Given the description of an element on the screen output the (x, y) to click on. 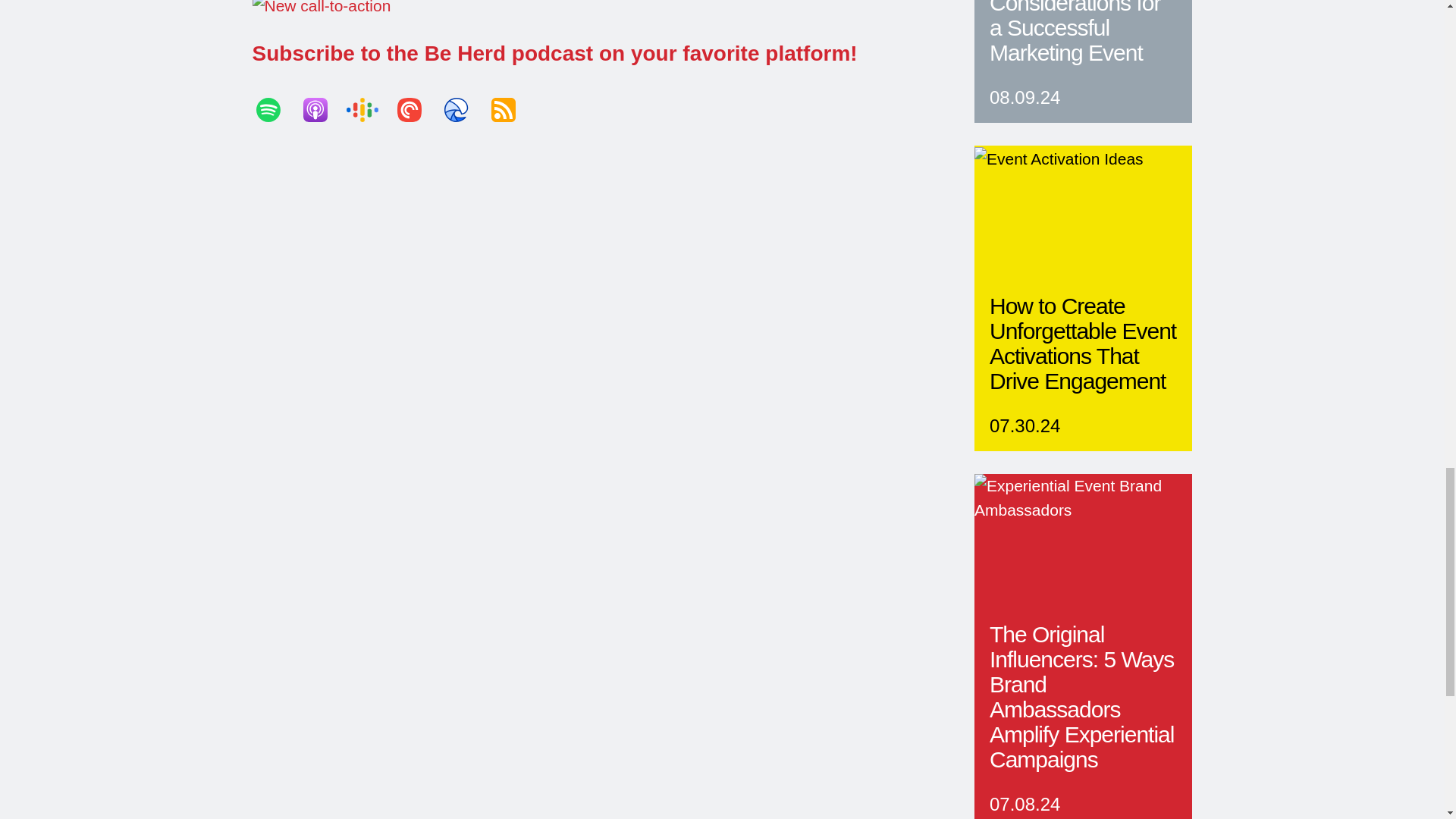
Spotify (274, 109)
PocketCasts (416, 109)
Breaker (462, 109)
RSS (510, 109)
Google-Podcasts (369, 109)
Apple-Podcasts (322, 109)
